Given the description of an element on the screen output the (x, y) to click on. 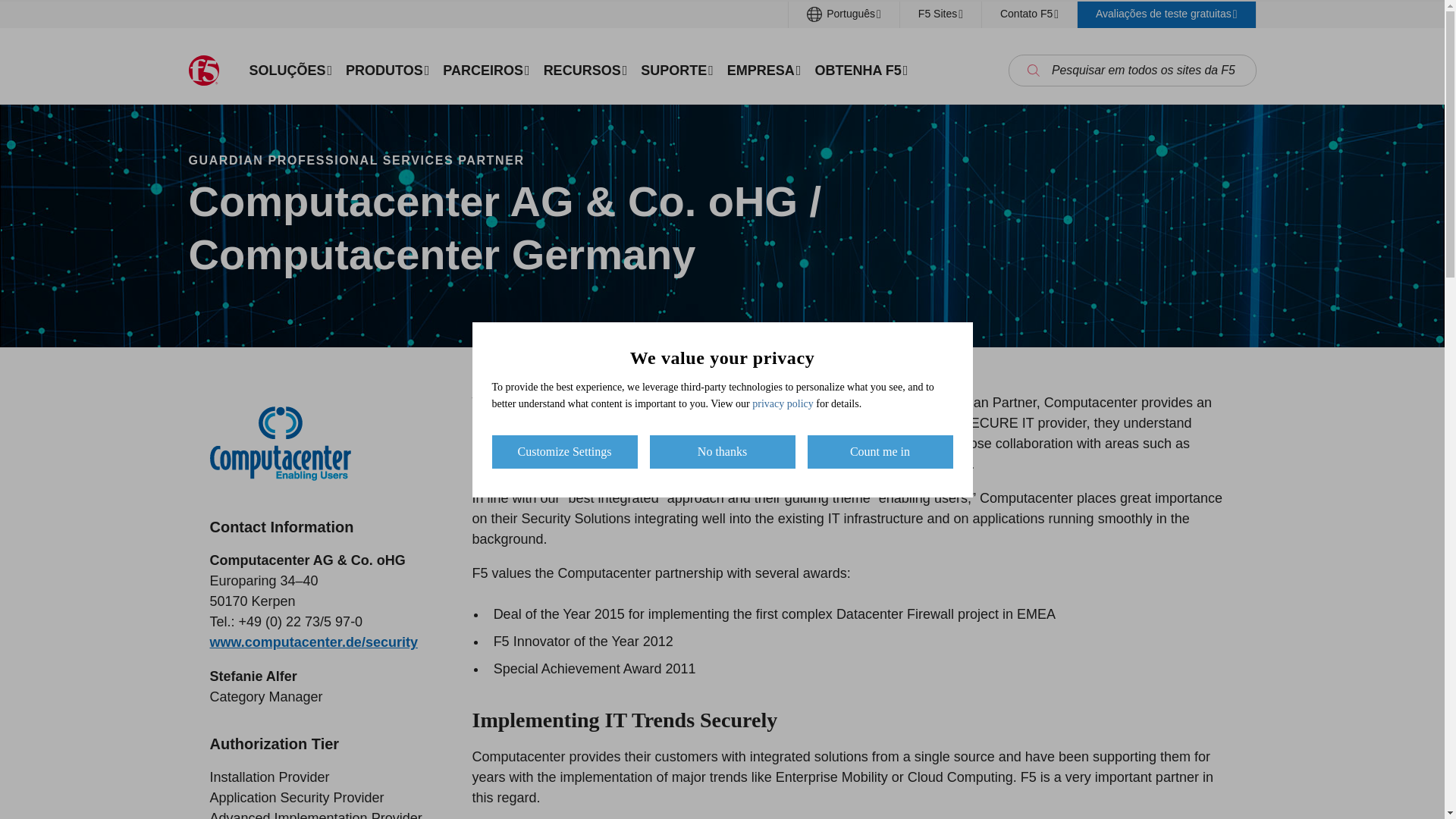
PARCEIROS (485, 69)
Contato F5 (1029, 13)
F5 (202, 70)
F5 Sites (940, 13)
PRODUTOS (387, 69)
OBTENHA F5 (861, 69)
SUPORTE (676, 69)
EMPRESA (764, 69)
RECURSOS (585, 69)
